Given the description of an element on the screen output the (x, y) to click on. 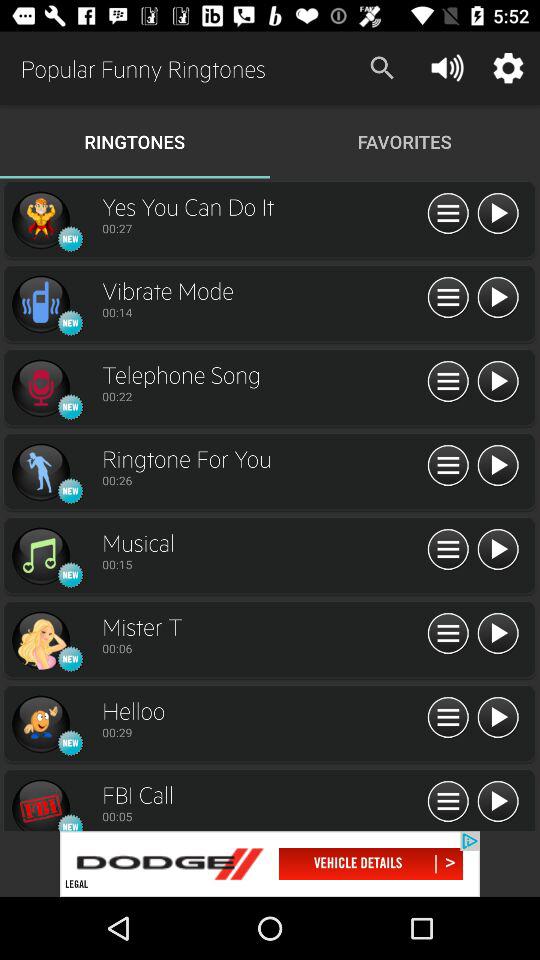
ringtone option (40, 472)
